Given the description of an element on the screen output the (x, y) to click on. 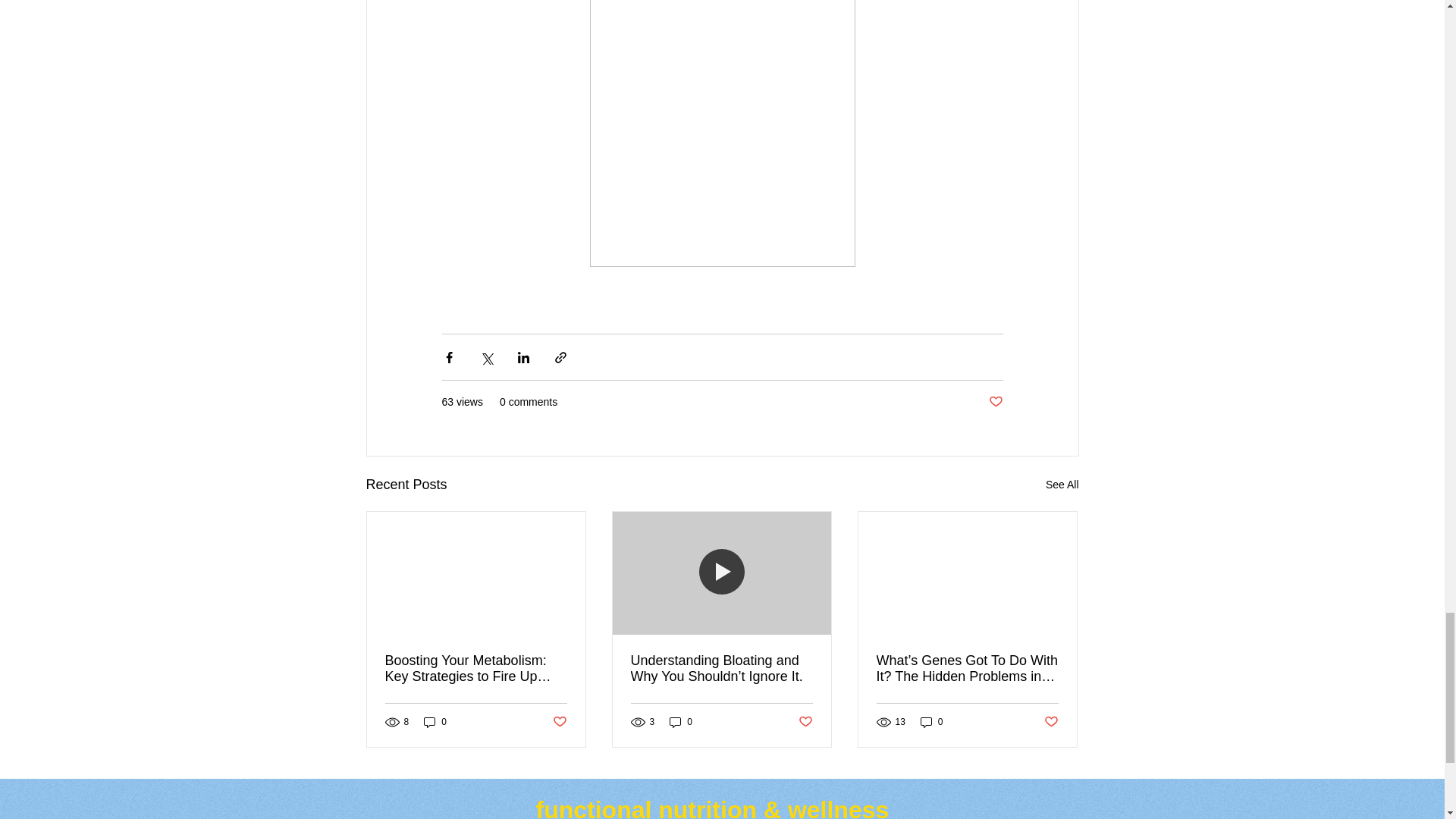
0 (435, 721)
Post not marked as liked (995, 401)
See All (1061, 485)
Post not marked as liked (558, 722)
